Given the description of an element on the screen output the (x, y) to click on. 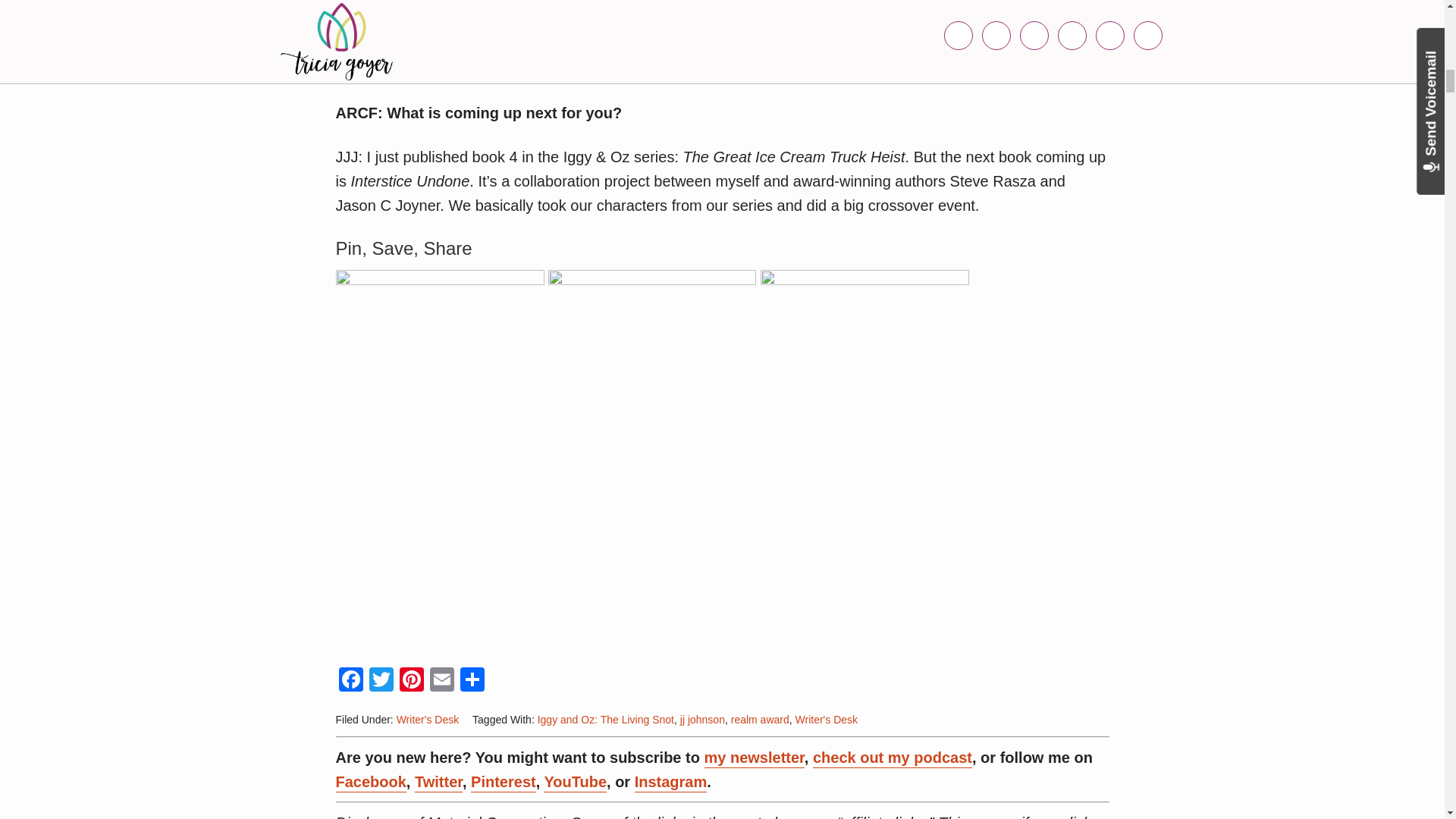
Facebook (349, 681)
Pinterest (411, 681)
Email (441, 681)
Twitter (380, 681)
